Given the description of an element on the screen output the (x, y) to click on. 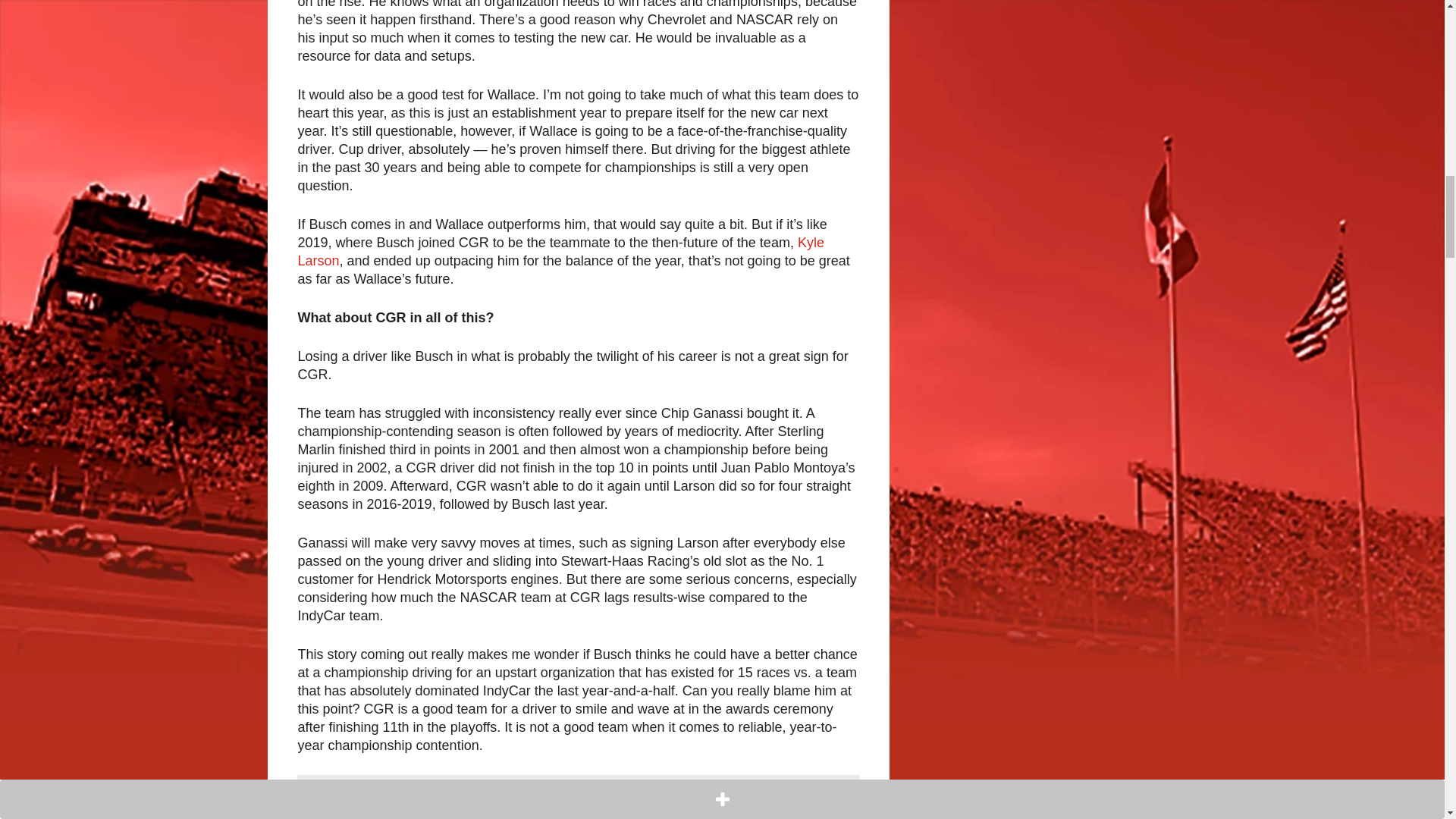
Kyle Larson (560, 251)
